Given the description of an element on the screen output the (x, y) to click on. 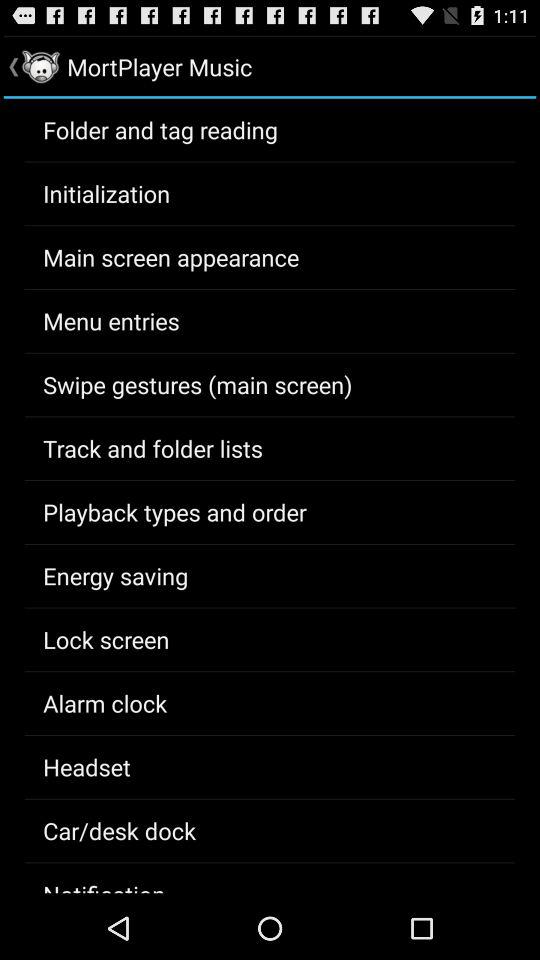
select lock screen item (106, 639)
